Given the description of an element on the screen output the (x, y) to click on. 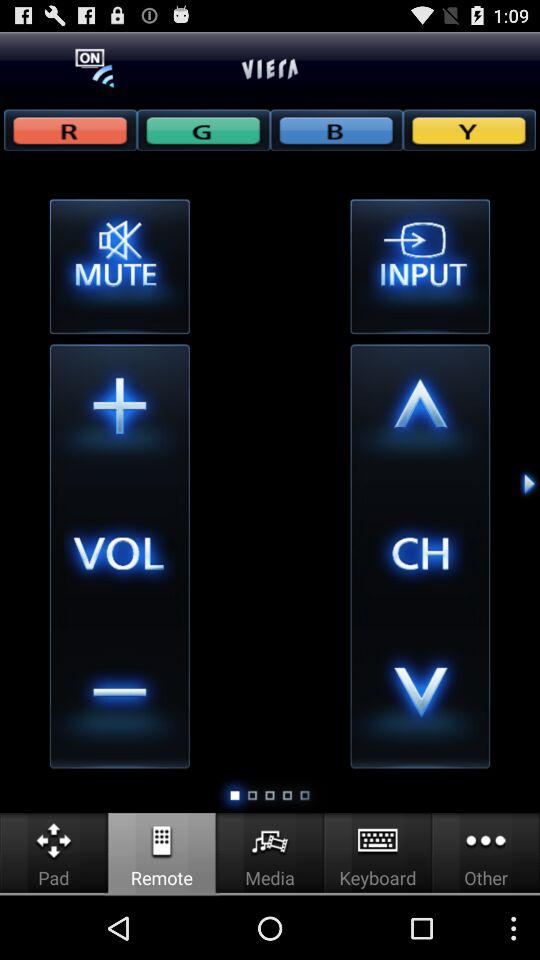
channel down (420, 698)
